Given the description of an element on the screen output the (x, y) to click on. 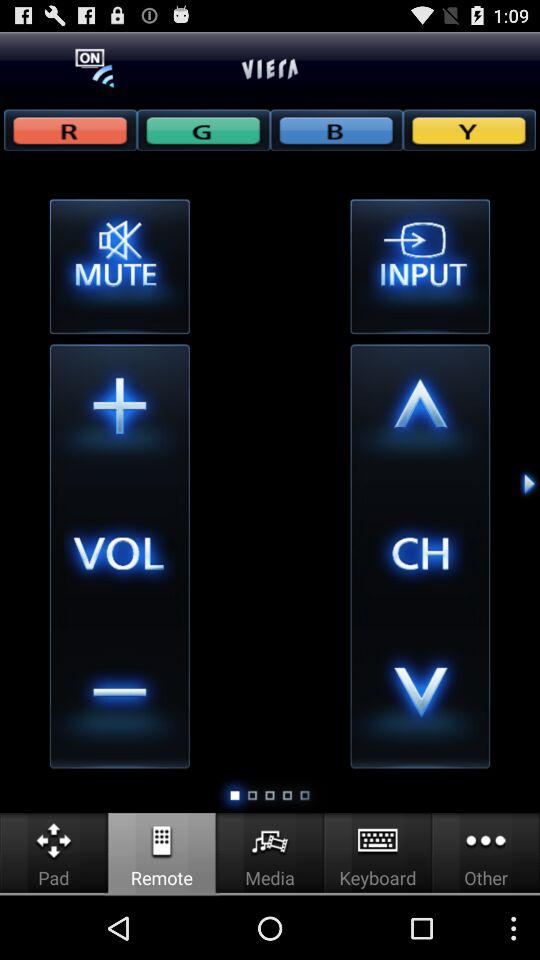
channel down (420, 698)
